Given the description of an element on the screen output the (x, y) to click on. 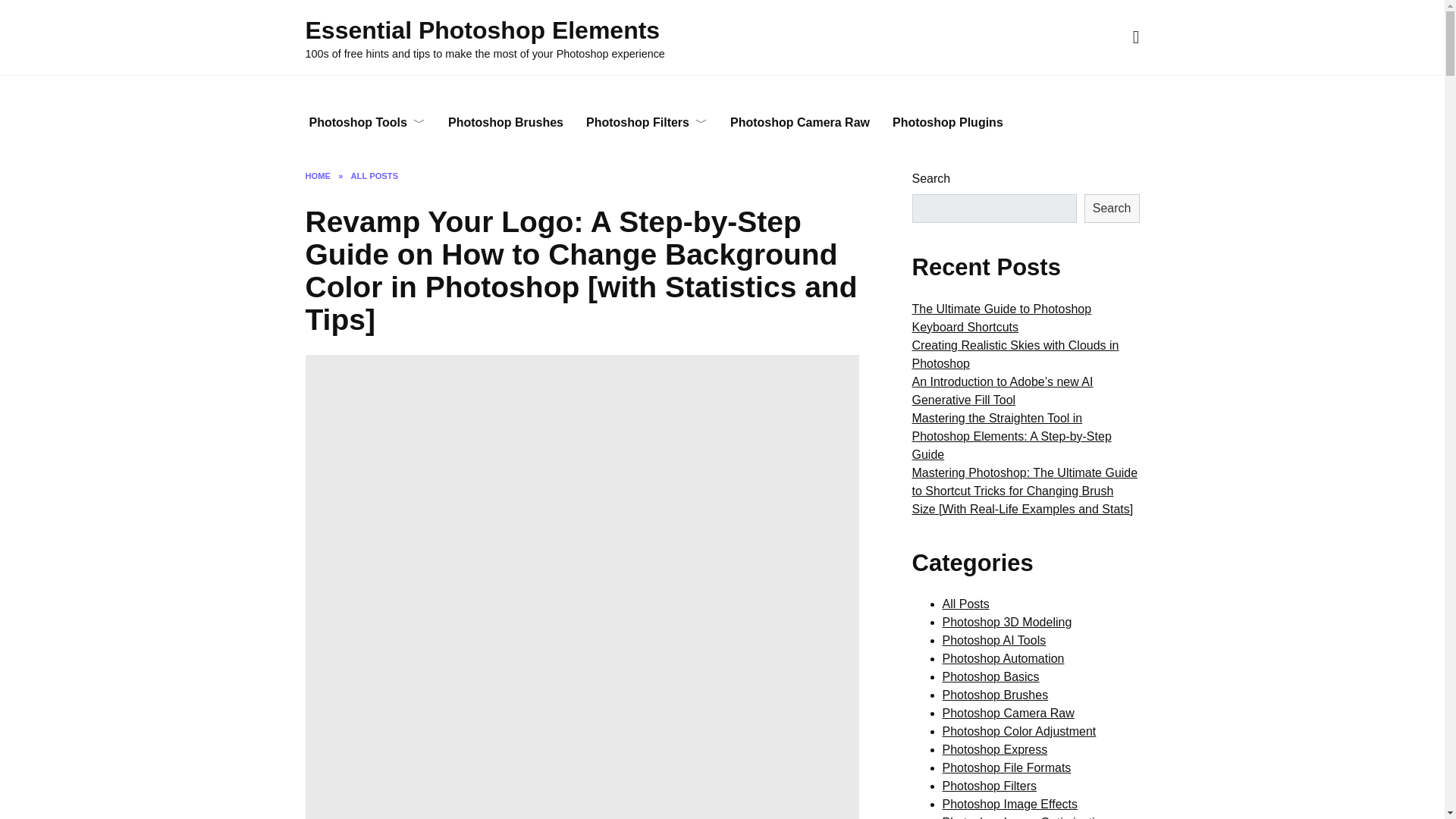
Photoshop Filters (647, 122)
HOME (317, 175)
ALL POSTS (374, 175)
Photoshop Camera Raw (799, 122)
Photoshop Tools (366, 122)
Essential Photoshop Elements (481, 30)
Photoshop Brushes (505, 122)
Photoshop Plugins (947, 122)
